Given the description of an element on the screen output the (x, y) to click on. 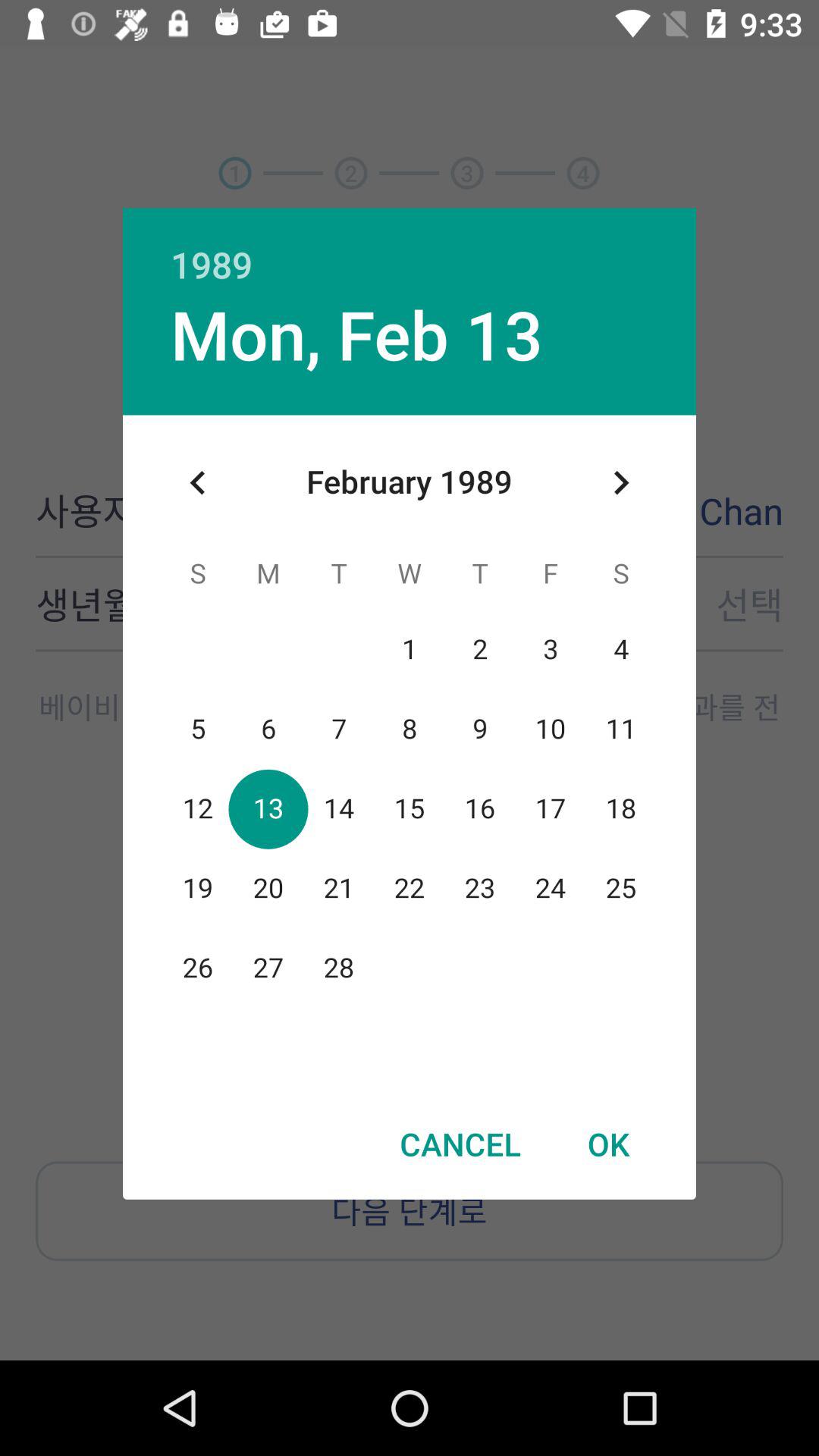
choose the mon, feb 13 icon (356, 333)
